Given the description of an element on the screen output the (x, y) to click on. 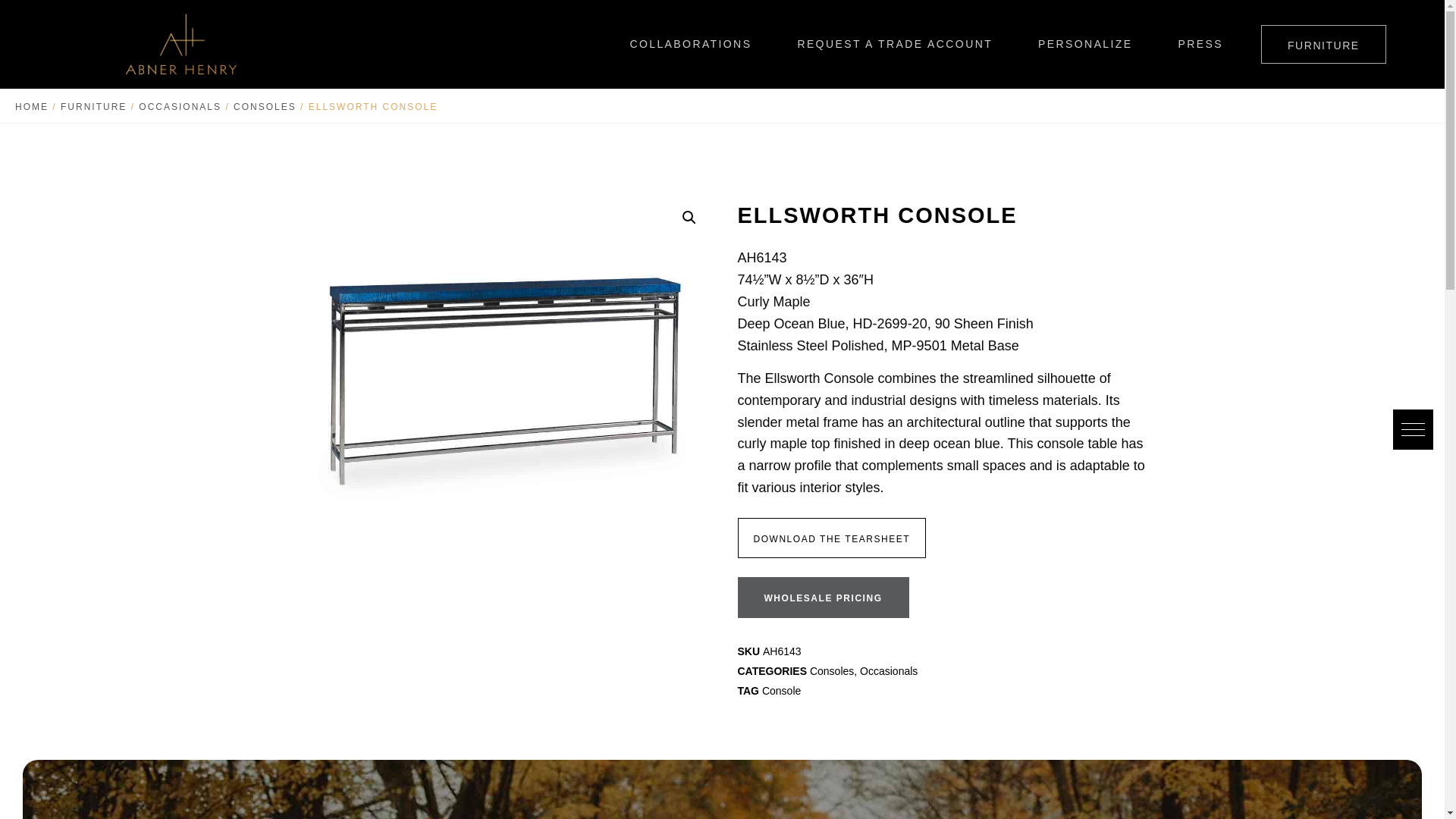
CONSOLES (264, 106)
REQUEST A TRADE ACCOUNT (894, 44)
DOWNLOAD THE TEARSHEET (831, 537)
WHOLESALE PRICING (822, 597)
PRESS (1200, 44)
Consoles (831, 671)
COLLABORATIONS (689, 44)
PERSONALIZE (1085, 44)
FURNITURE (93, 106)
HOME (31, 106)
Occasionals (888, 671)
OCCASIONALS (179, 106)
FURNITURE (1323, 44)
Console (780, 690)
